Given the description of an element on the screen output the (x, y) to click on. 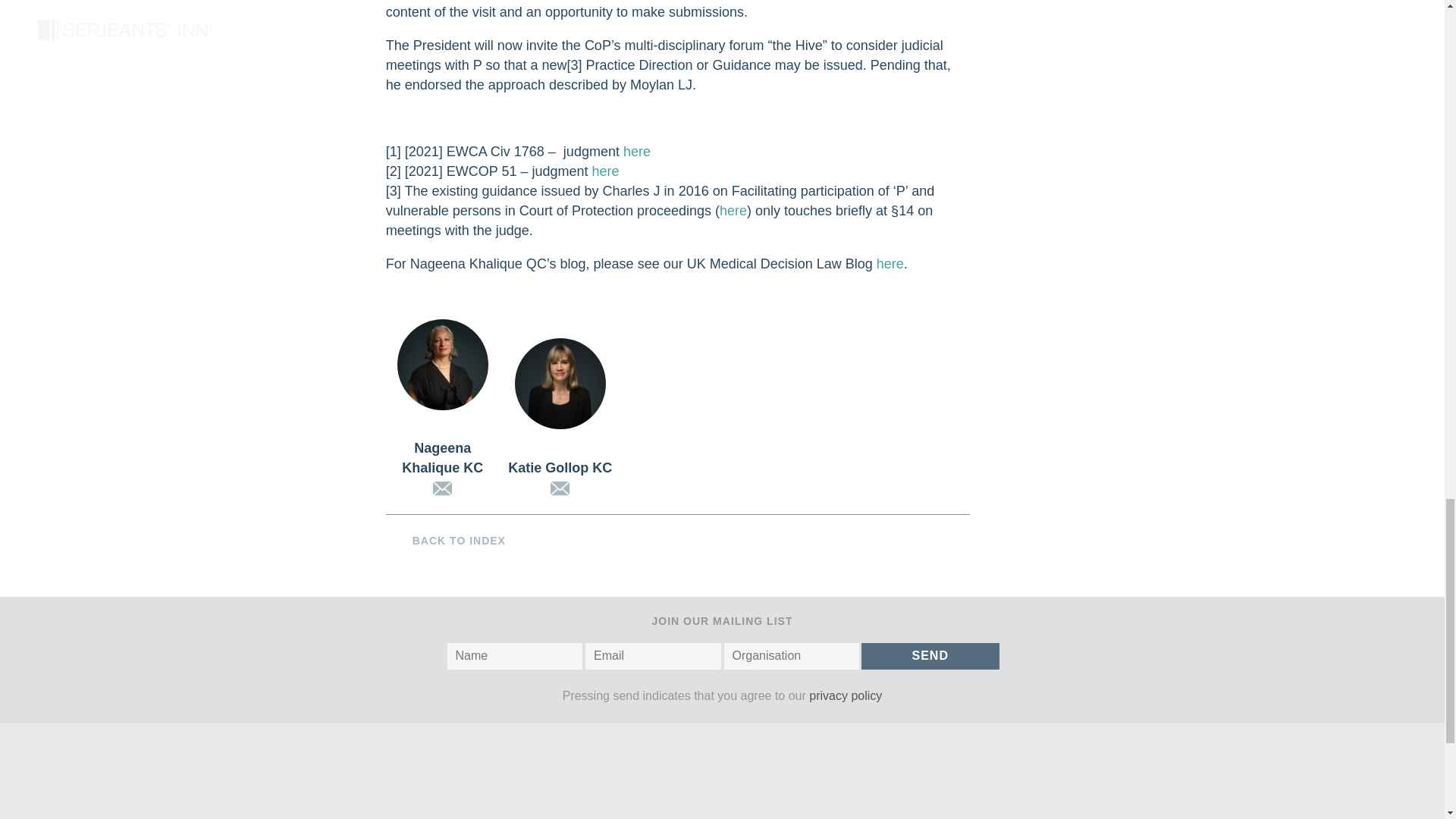
Send (929, 655)
